Given the description of an element on the screen output the (x, y) to click on. 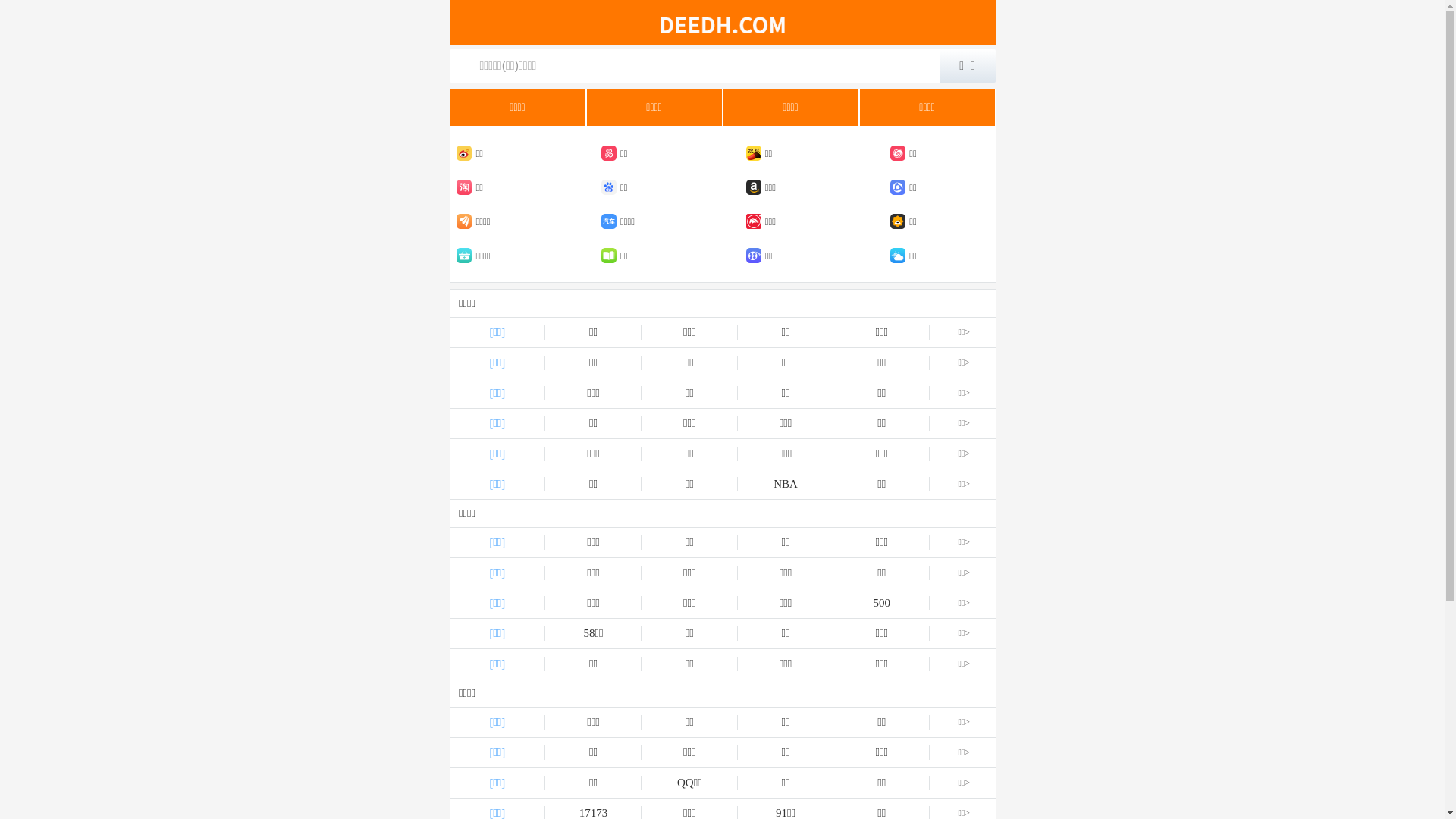
500 Element type: text (881, 603)
NBA Element type: text (785, 483)
